Given the description of an element on the screen output the (x, y) to click on. 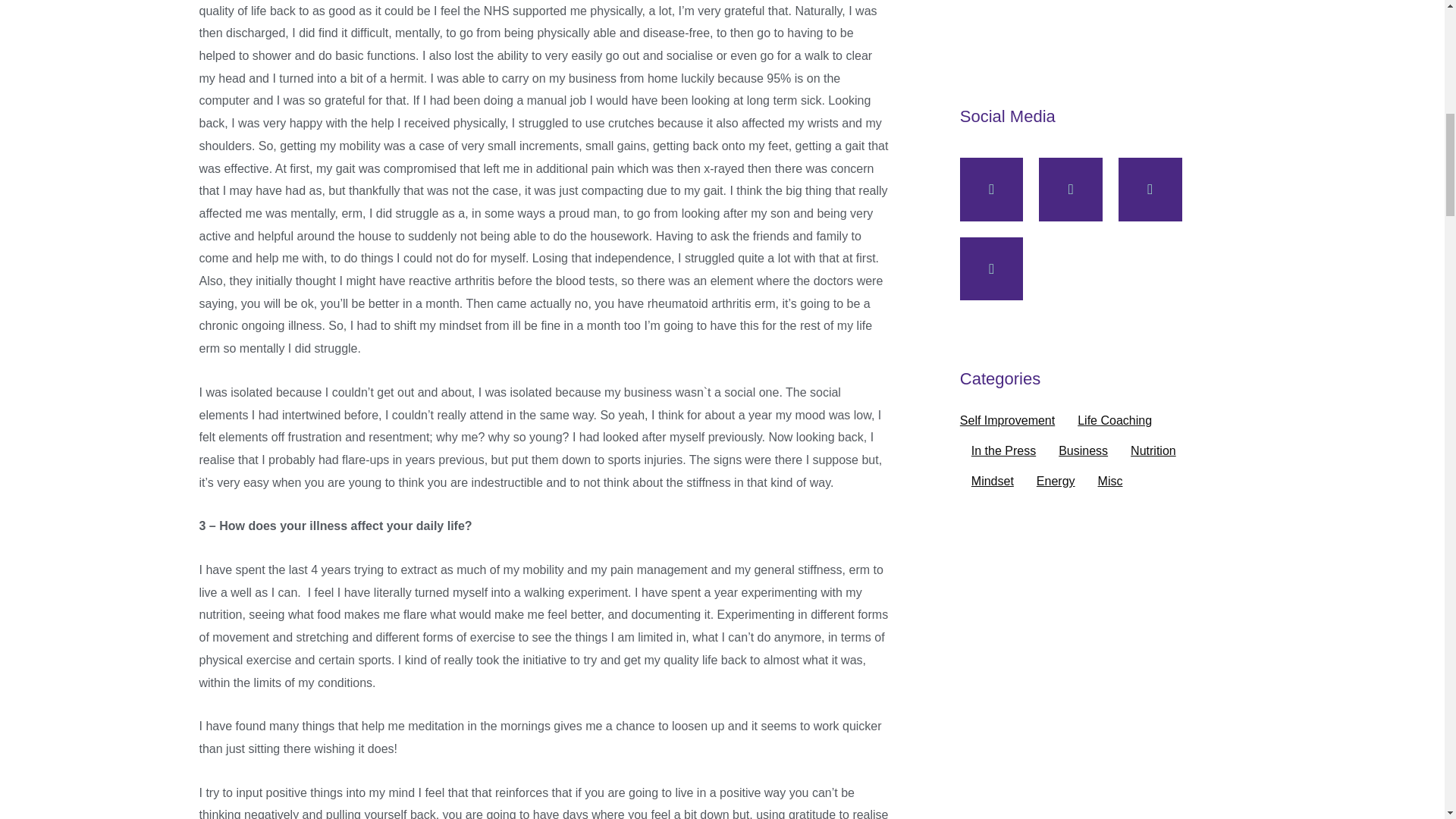
Nutrition (1153, 450)
Instagram (991, 269)
Twitter (1150, 189)
Business (1083, 450)
Self Improvement (1006, 420)
Energy (1055, 481)
Facebook-f (991, 189)
Youtube (1070, 189)
Mindset (992, 481)
Life Coaching (1114, 420)
In the Press (1003, 450)
